Given the description of an element on the screen output the (x, y) to click on. 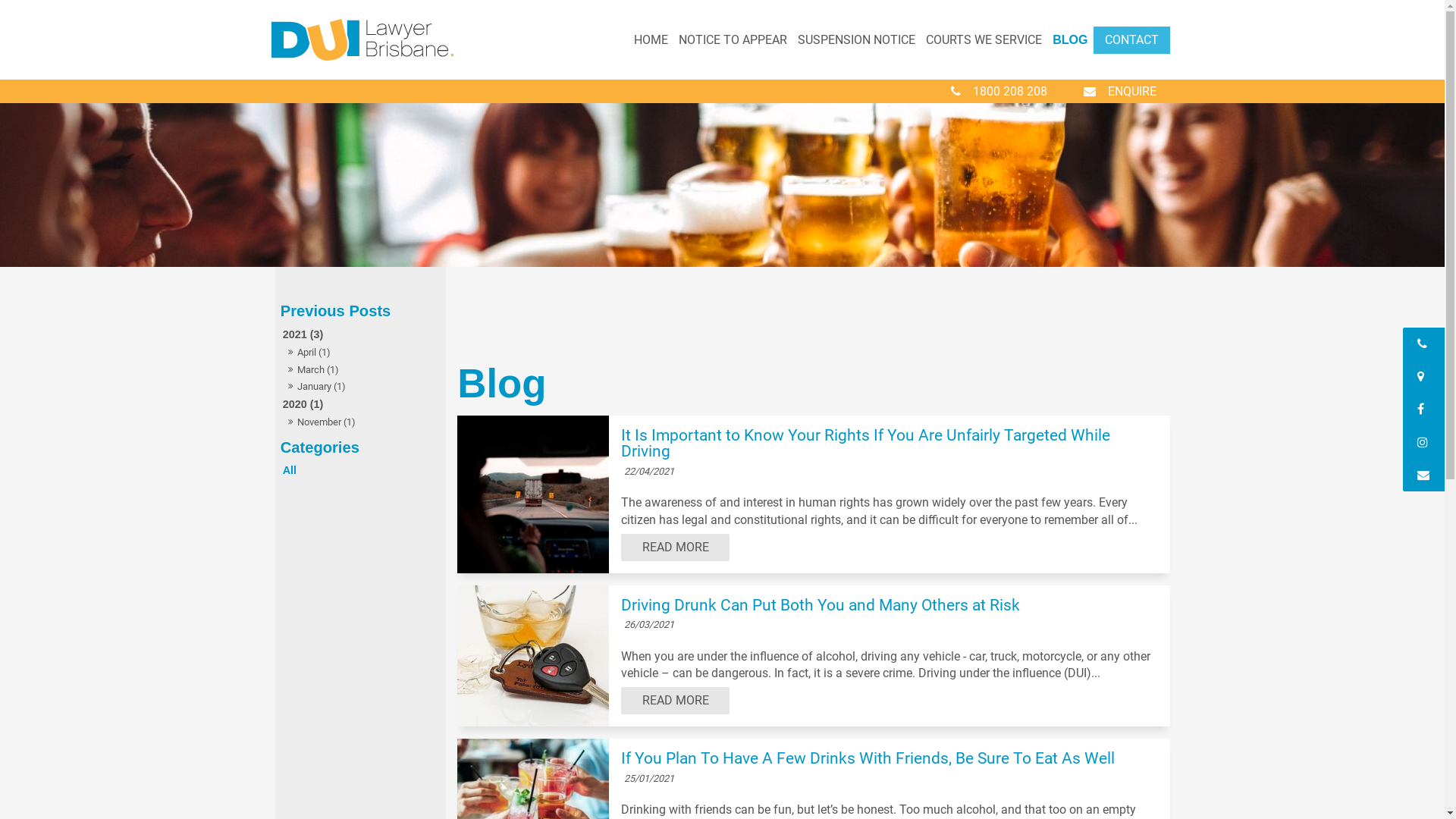
READ MORE Element type: text (675, 547)
READ MORE Element type: text (675, 700)
ENQUIRE Element type: text (1119, 91)
CONTACT Element type: text (1131, 39)
READ MORE Element type: text (675, 700)
BLOG Element type: text (1069, 39)
2021 (3) Element type: text (360, 334)
NOTICE TO APPEAR Element type: text (732, 39)
2020 (1) Element type: text (360, 404)
1800 208 208 Element type: text (998, 91)
April (1) Element type: text (360, 352)
January (1) Element type: text (360, 386)
READ MORE Element type: text (675, 547)
March (1) Element type: text (360, 369)
HOME Element type: text (650, 39)
COURTS WE SERVICE Element type: text (983, 39)
November (1) Element type: text (360, 422)
SUSPENSION NOTICE Element type: text (856, 39)
All Element type: text (360, 470)
